Given the description of an element on the screen output the (x, y) to click on. 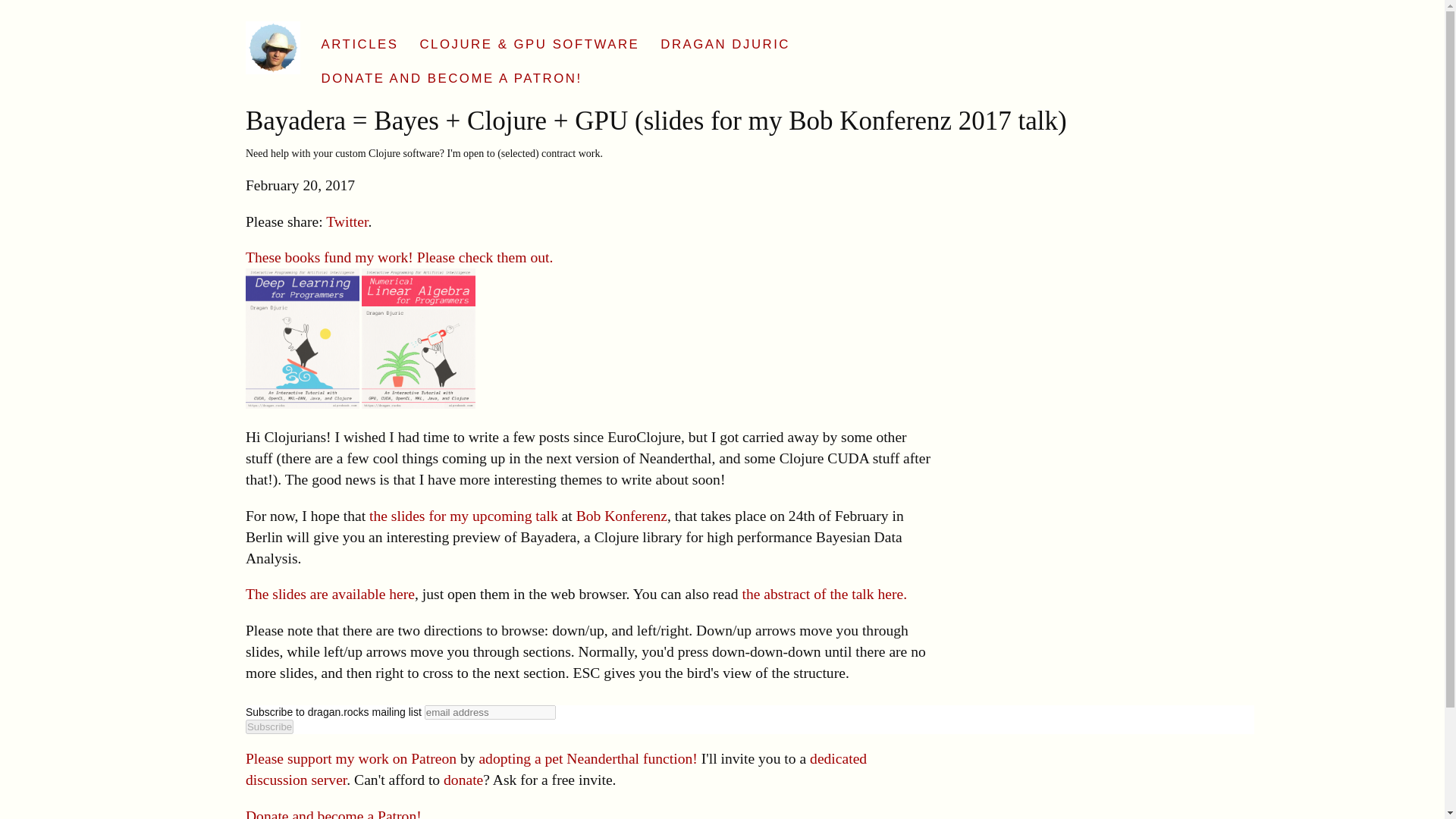
the abstract of the talk here. (824, 593)
dedicated discussion server (556, 769)
DONATE AND BECOME A PATRON! (462, 70)
adopting a pet Neanderthal function! (588, 758)
Subscribe (270, 726)
Twitter (347, 221)
These books fund my work! Please check them out. (399, 257)
Subscribe (270, 726)
donate (463, 779)
ARTICLES (370, 36)
Please support my work on Patreon (351, 758)
the slides for my upcoming talk (463, 515)
The slides are available here (330, 593)
Donate and become a Patron! (334, 813)
DRAGAN DJURIC (735, 36)
